Given the description of an element on the screen output the (x, y) to click on. 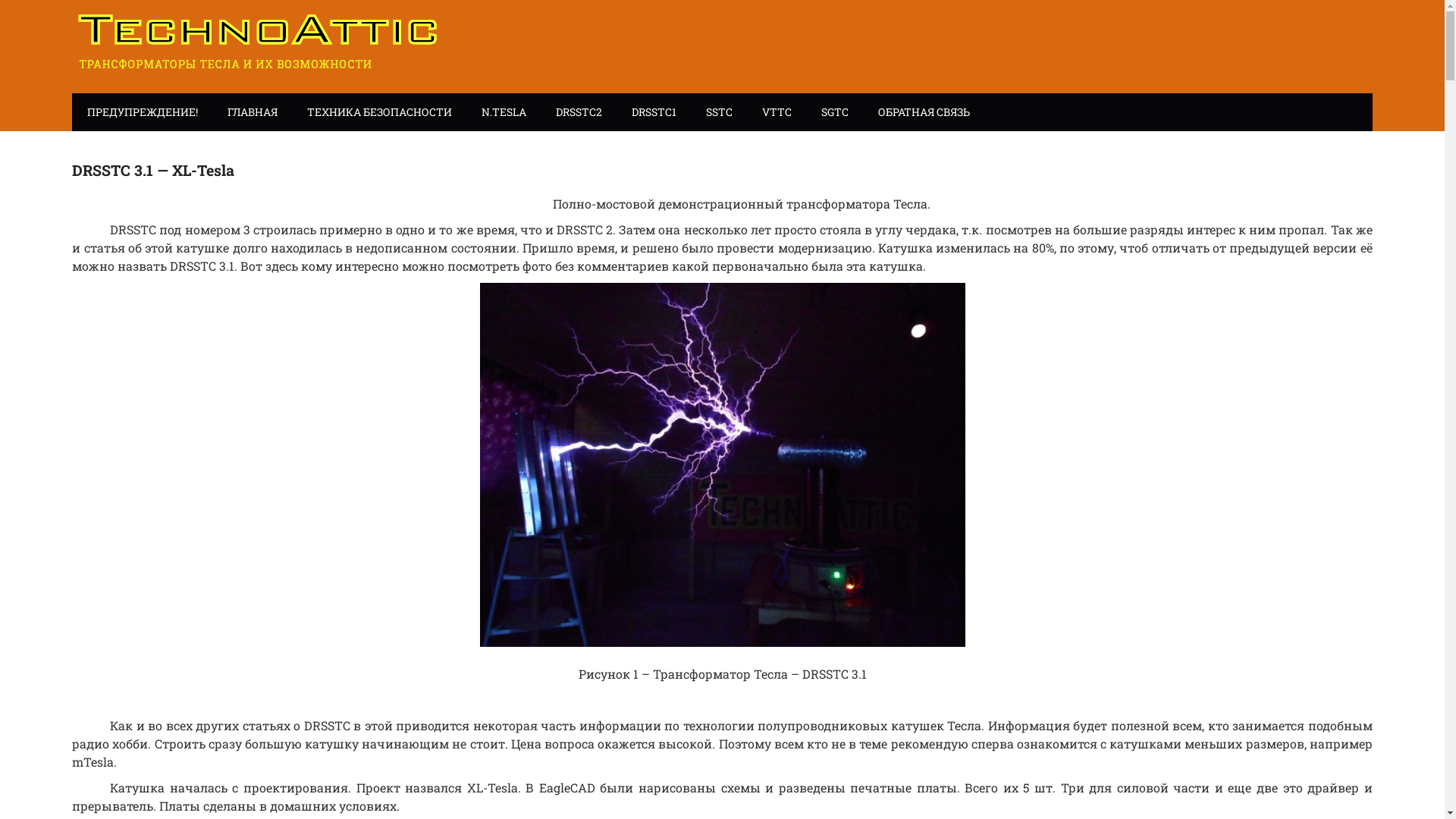
SGTC Element type: text (834, 112)
TechnoAttic Element type: hover (260, 41)
SSTC Element type: text (718, 112)
DRSSTC2 Element type: text (578, 112)
VTTC Element type: text (776, 112)
DRSSTC1 Element type: text (653, 112)
N.TESLA Element type: text (503, 112)
